Given the description of an element on the screen output the (x, y) to click on. 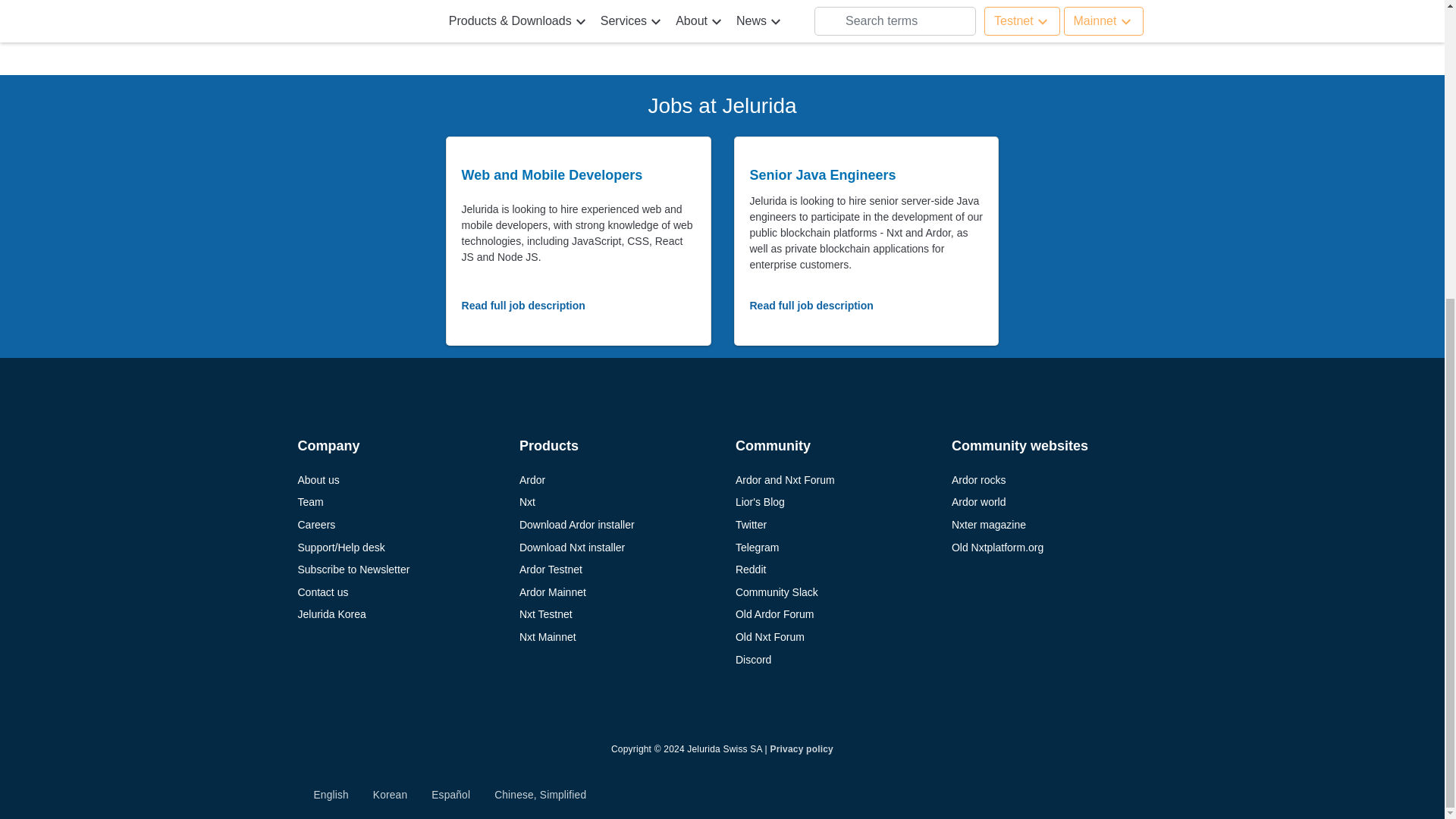
Web and Mobile Developers (552, 174)
Read full job description (523, 305)
Read full job description (810, 305)
Senior Java Engineers (822, 174)
About us (395, 479)
